Given the description of an element on the screen output the (x, y) to click on. 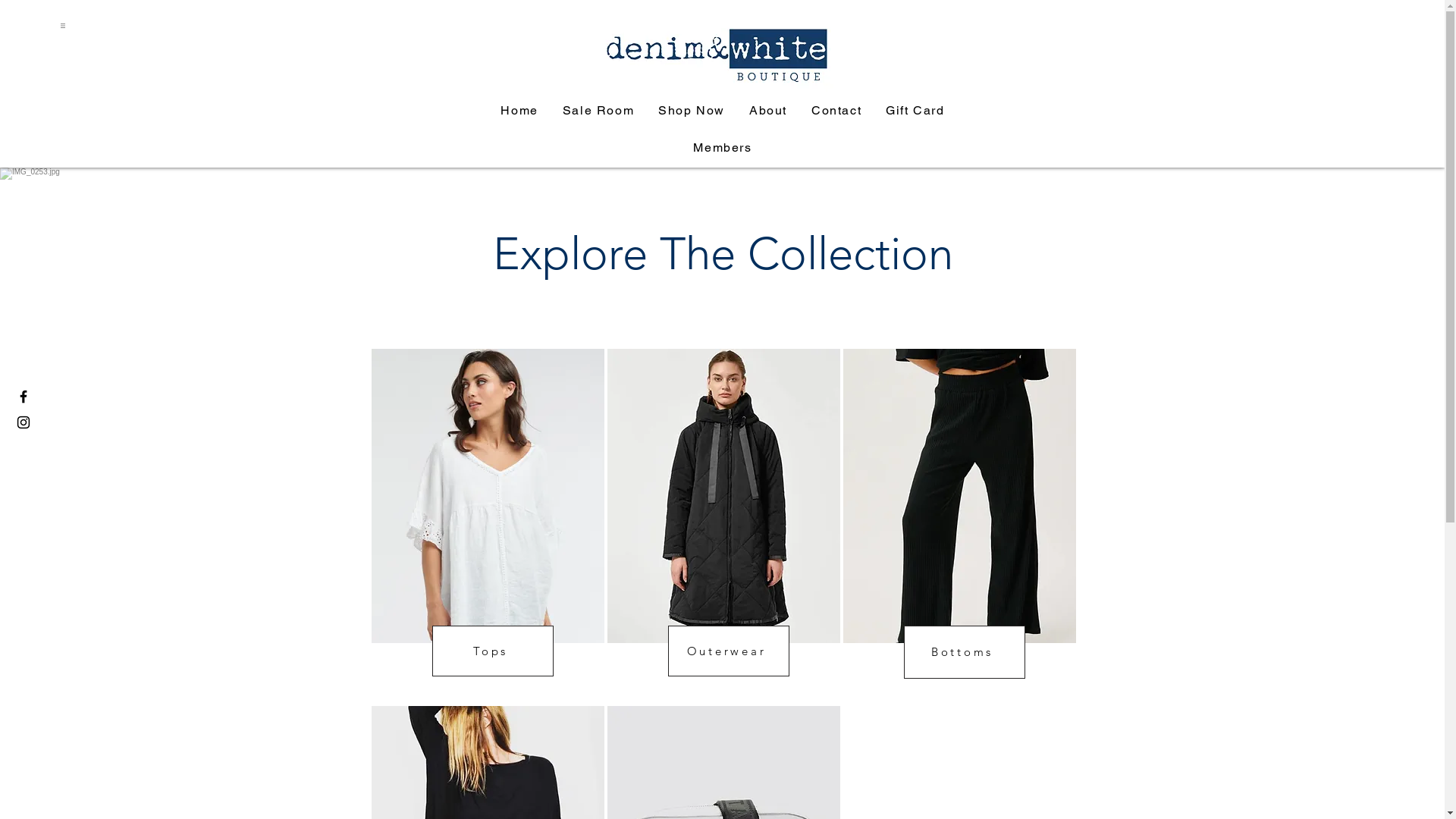
Sale Room Element type: text (598, 110)
Shop Now Element type: text (691, 110)
Home Element type: text (518, 110)
IMG_5506.jpg Element type: hover (721, 49)
About Element type: text (768, 110)
Members Element type: text (722, 147)
Gift Card Element type: text (914, 110)
Contact Element type: text (836, 110)
